Given the description of an element on the screen output the (x, y) to click on. 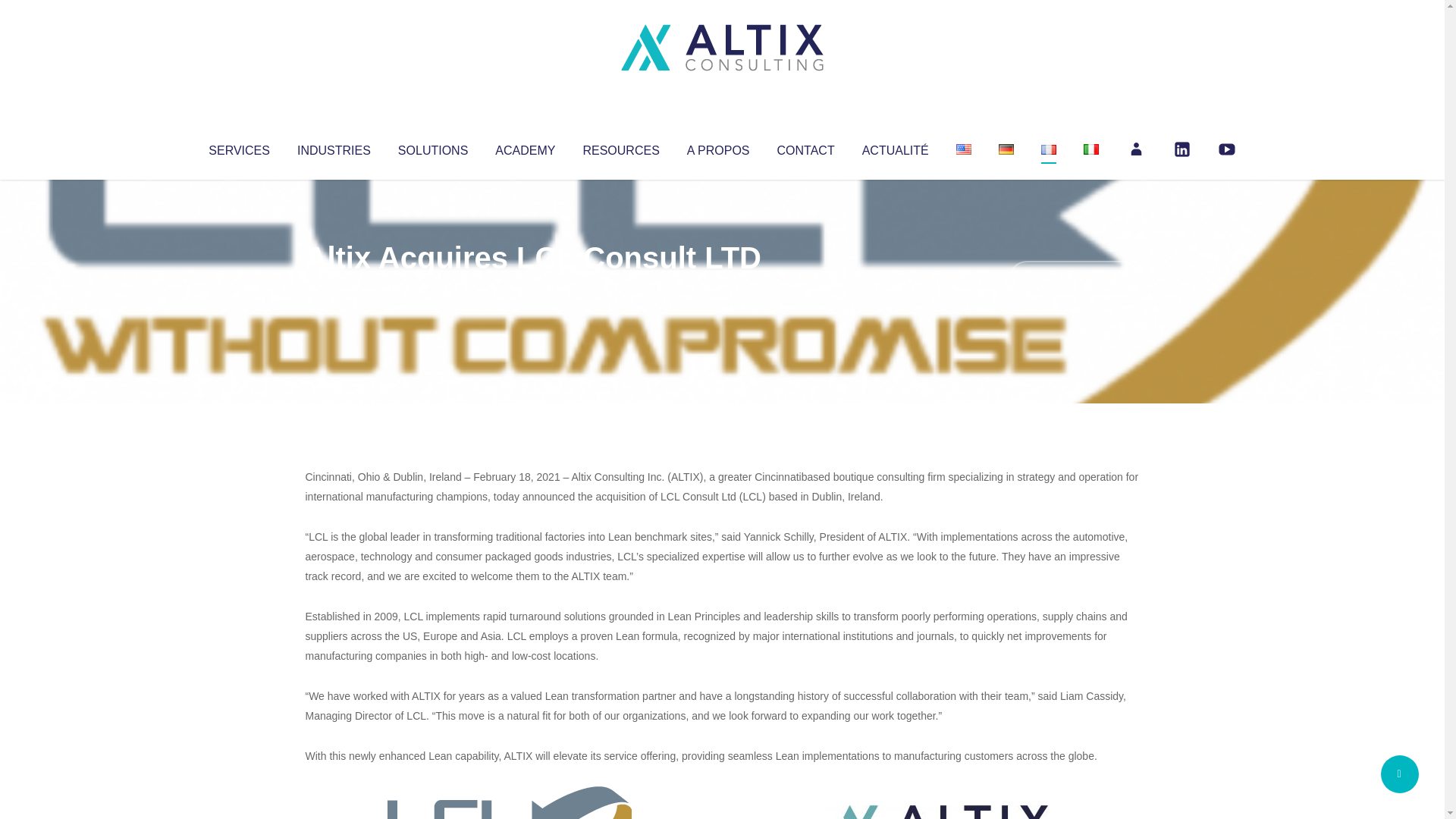
Articles par Altix (333, 287)
A PROPOS (718, 146)
Uncategorized (530, 287)
RESOURCES (620, 146)
SOLUTIONS (432, 146)
No Comments (1073, 278)
INDUSTRIES (334, 146)
ACADEMY (524, 146)
SERVICES (238, 146)
Altix (333, 287)
